Given the description of an element on the screen output the (x, y) to click on. 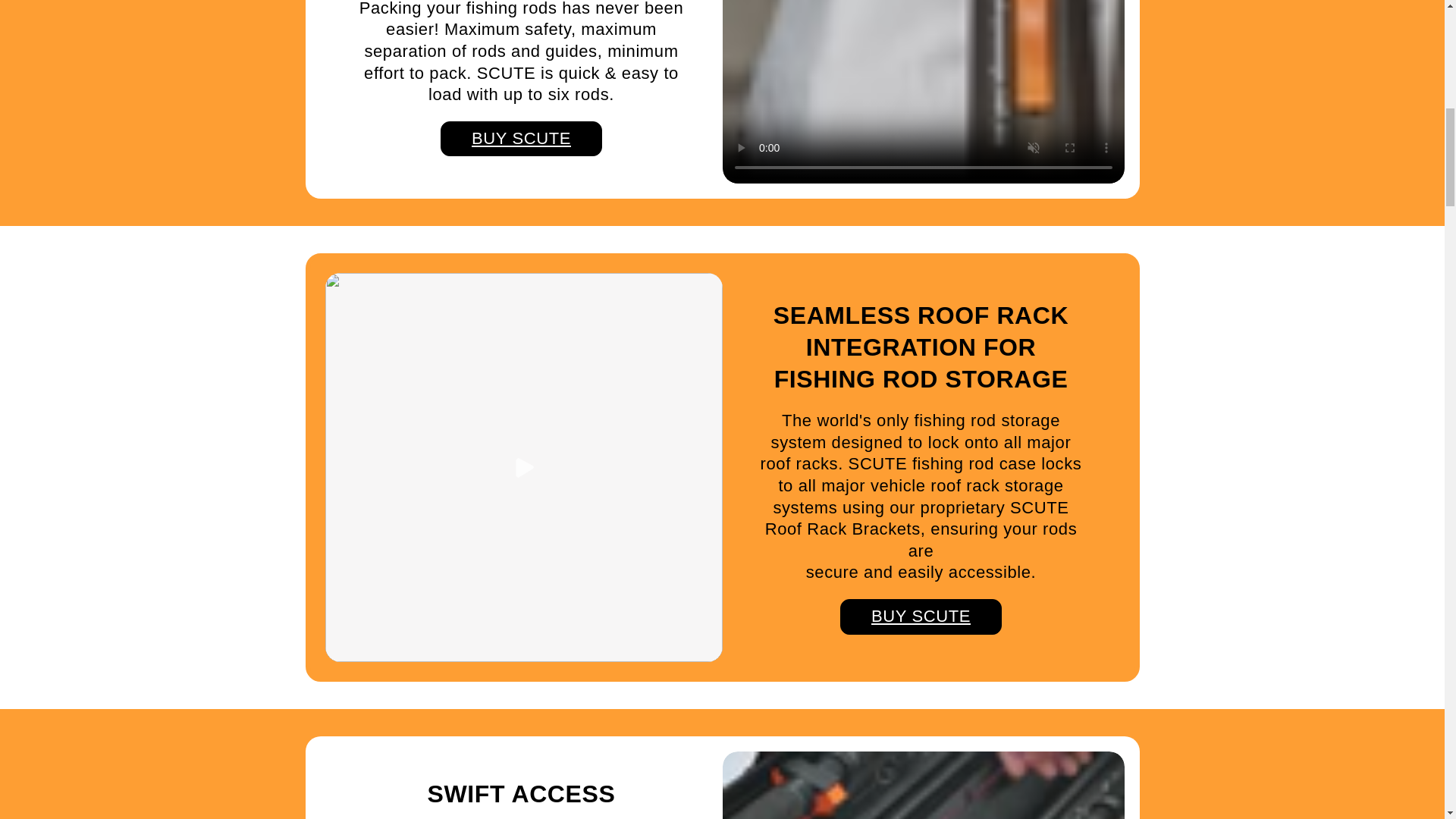
BUY SCUTE (521, 139)
BUY SCUTE (920, 616)
